Given the description of an element on the screen output the (x, y) to click on. 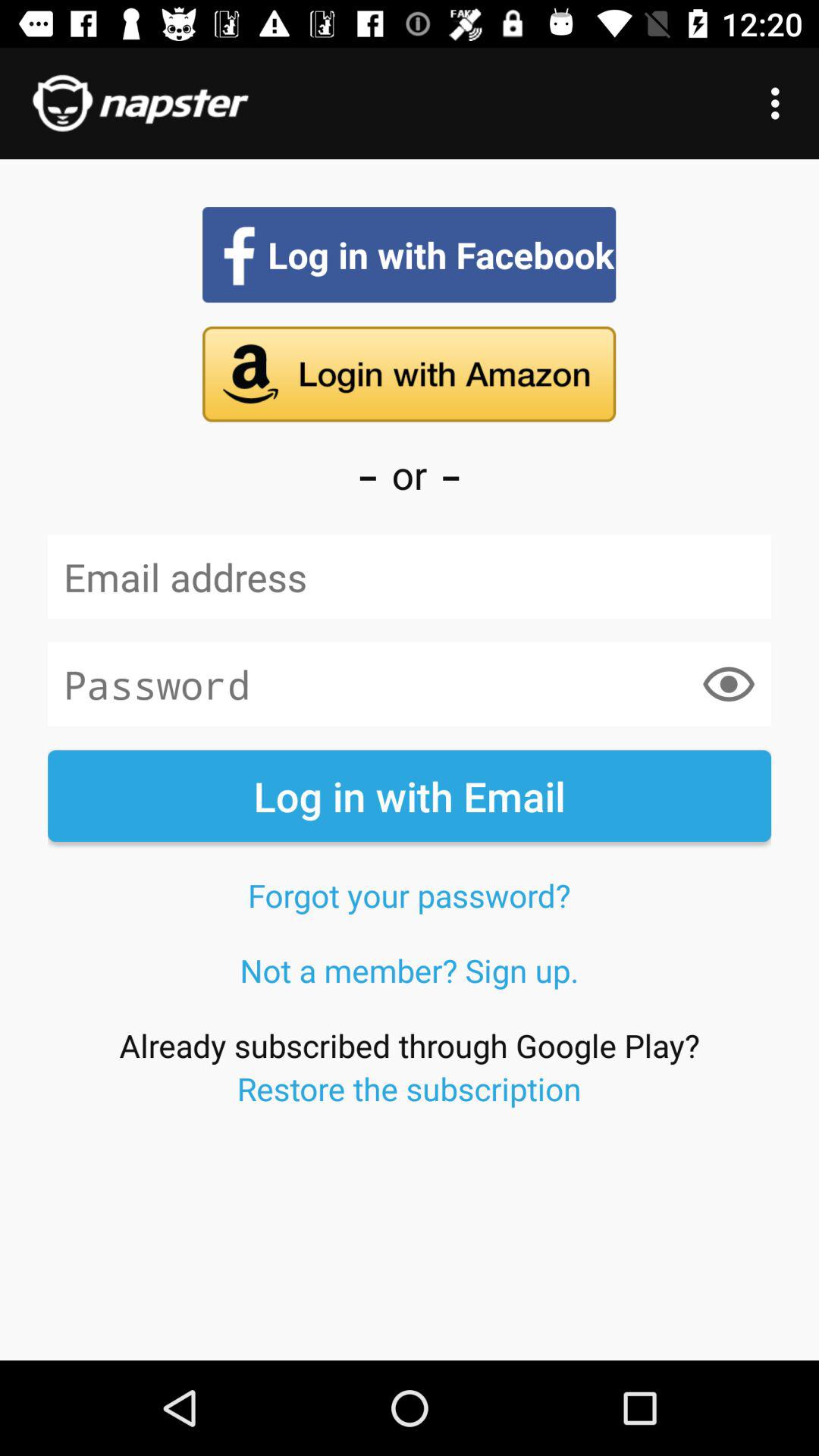
click on the title of the page at top left corner (140, 103)
click on the button above forgot your password (409, 795)
click on the restore the submission at the bottom of the page (409, 1088)
click  forgot your password (409, 895)
click on the button above or (408, 374)
click on email address icon (409, 576)
click on the password field (409, 684)
